Given the description of an element on the screen output the (x, y) to click on. 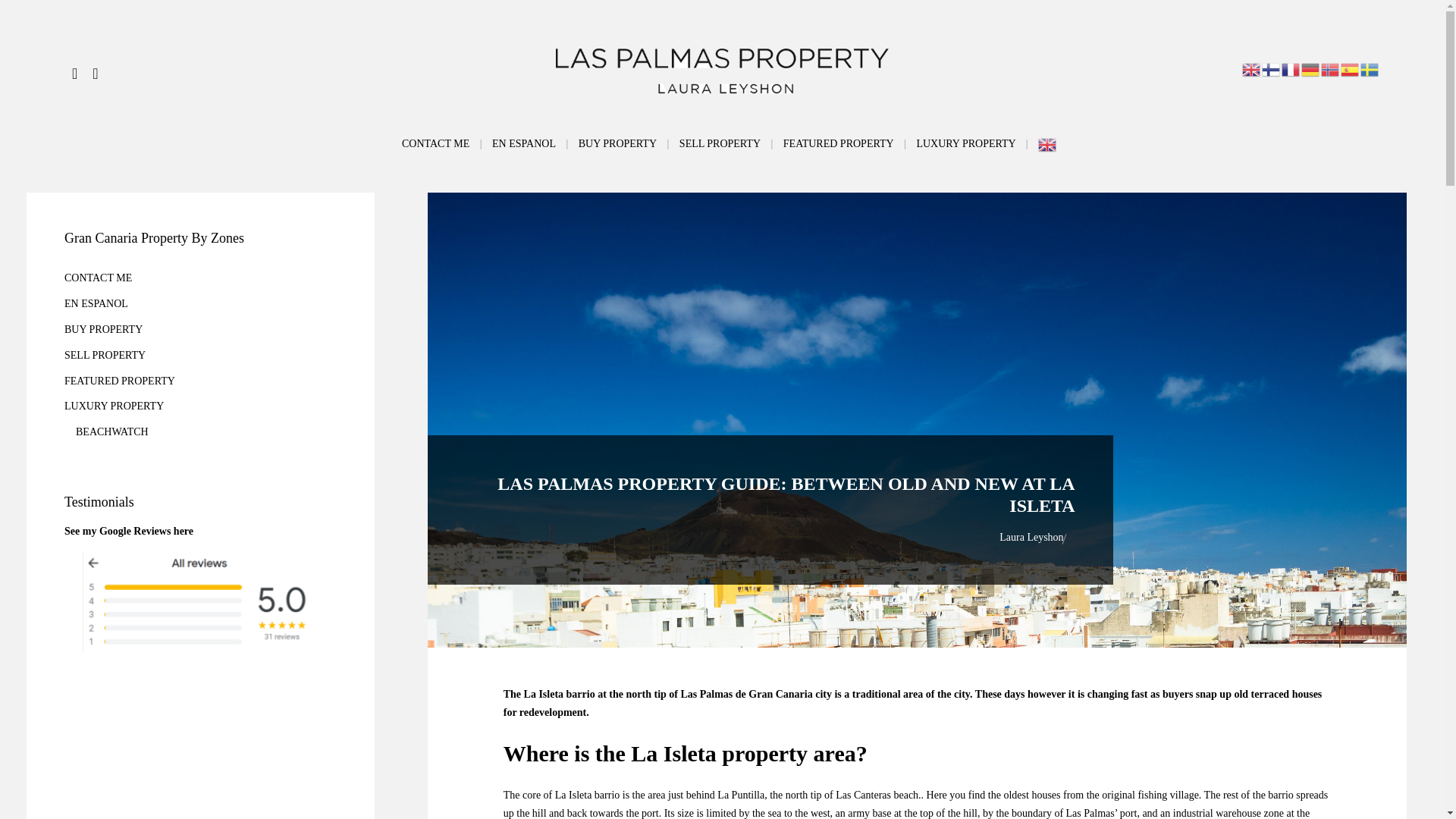
BUY PROPERTY (617, 143)
SELL PROPERTY (719, 143)
LUXURY PROPERTY (964, 143)
CONTACT ME (434, 143)
English (1048, 143)
Laura Leyshon (1030, 536)
EN ESPANOL (524, 143)
FEATURED PROPERTY (838, 143)
